Given the description of an element on the screen output the (x, y) to click on. 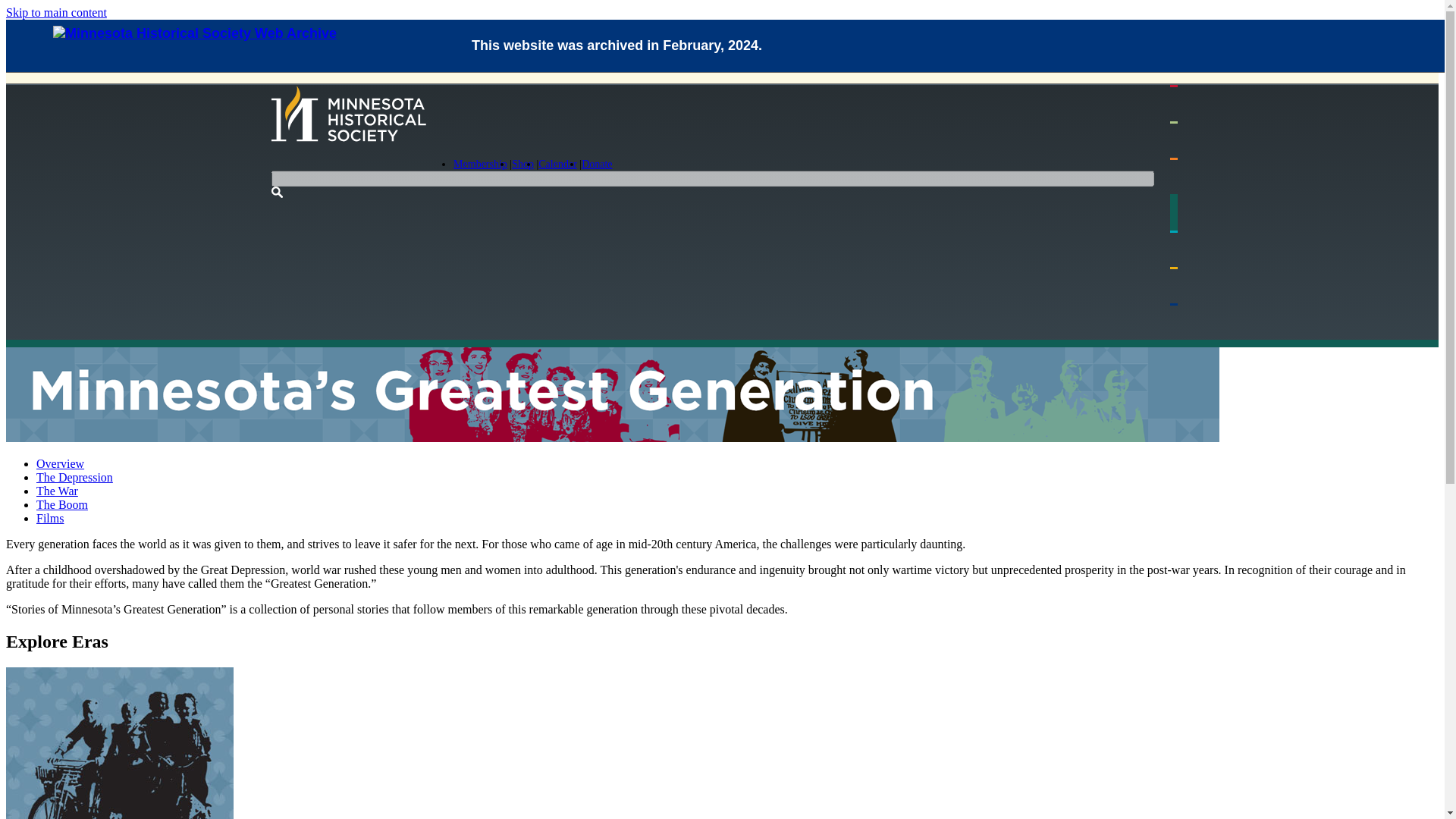
More details. (839, 51)
Skip to main content (55, 11)
Donate (595, 163)
VISIT (1194, 103)
Membership (479, 163)
Shop (523, 163)
Calendar (557, 163)
